Given the description of an element on the screen output the (x, y) to click on. 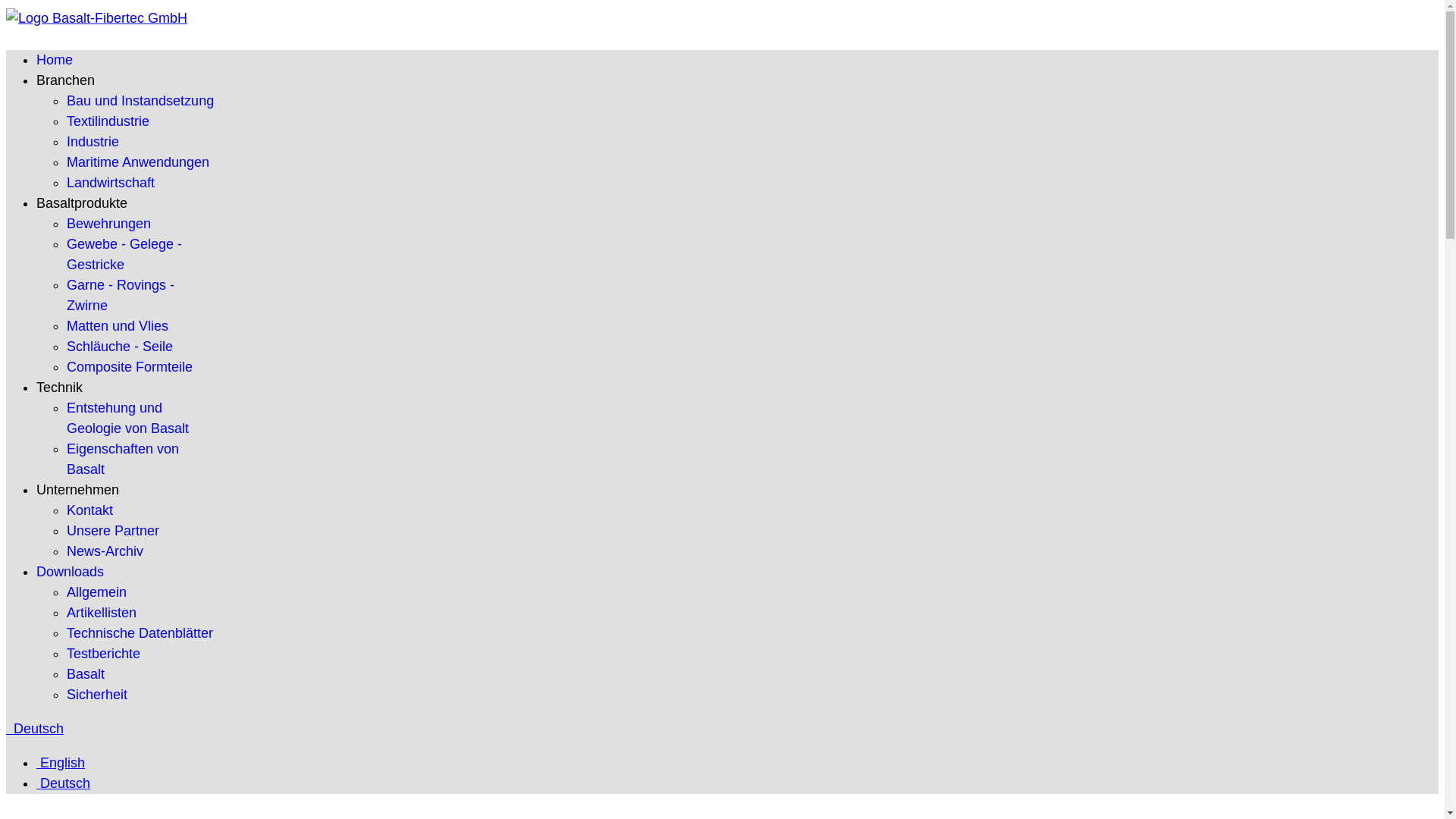
Bau und Instandsetzung Element type: text (139, 100)
Sicherheit Element type: text (96, 694)
Downloads Element type: text (69, 571)
Deutsch Element type: text (63, 782)
Textilindustrie Element type: text (107, 120)
News-Archiv Element type: text (104, 550)
Composite Formteile Element type: text (129, 366)
Basalt Element type: text (85, 673)
Unsere Partner Element type: text (112, 530)
Landwirtschaft Element type: text (110, 182)
English Element type: text (60, 762)
Eigenschaften von Basalt Element type: text (122, 458)
Entstehung und Geologie von Basalt Element type: text (127, 418)
Matten und Vlies Element type: text (117, 325)
Artikellisten Element type: text (101, 612)
  Deutsch Element type: text (34, 728)
Bewehrungen Element type: text (108, 223)
Testberichte Element type: text (103, 653)
Industrie Element type: text (92, 141)
Home Element type: text (54, 59)
Kontakt Element type: text (89, 509)
Garne - Rovings - Zwirne Element type: text (120, 295)
Maritime Anwendungen Element type: text (137, 161)
Gewebe - Gelege - Gestricke Element type: text (124, 254)
Allgemein Element type: text (96, 591)
